Given the description of an element on the screen output the (x, y) to click on. 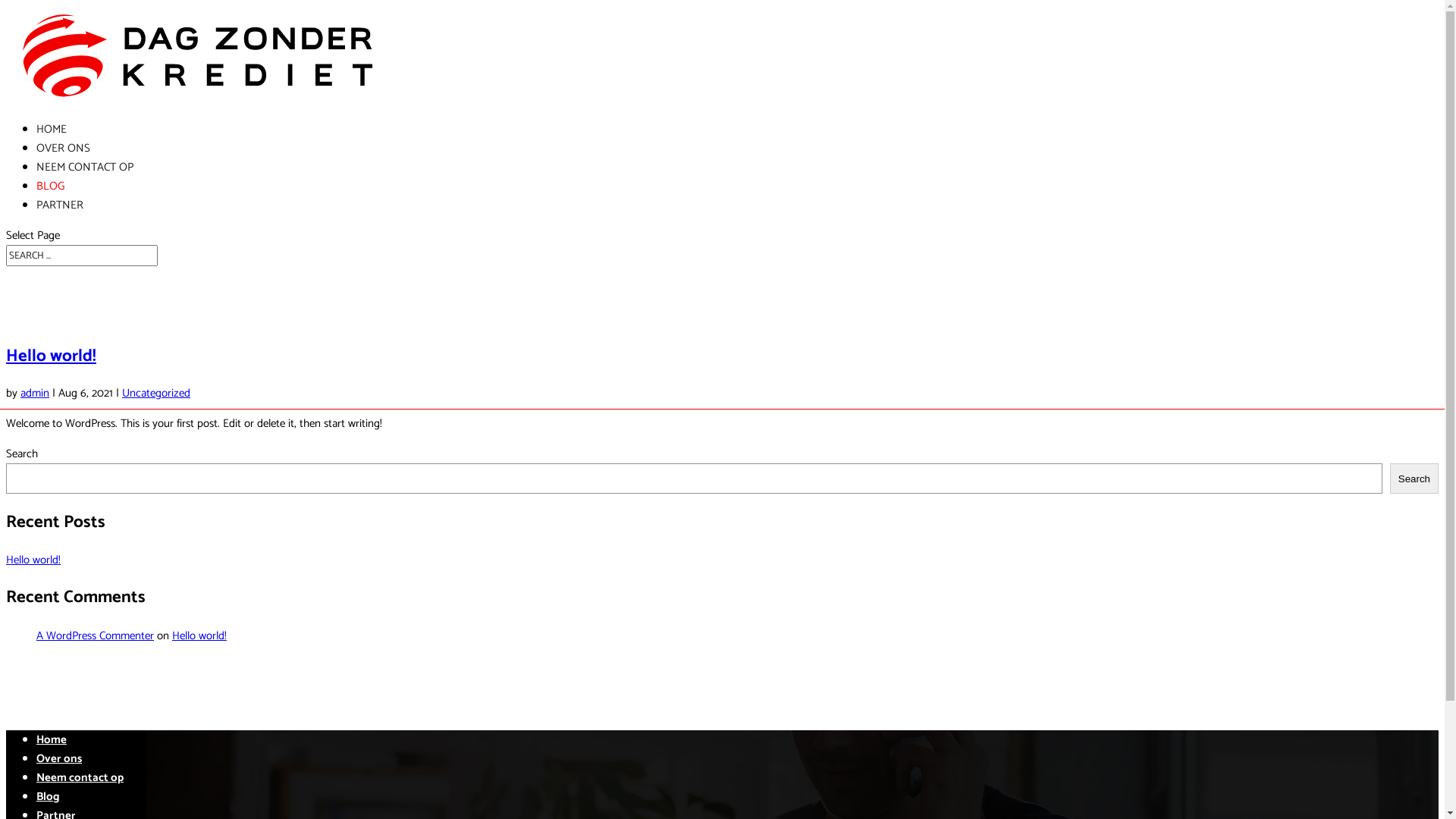
Home Element type: text (51, 739)
BLOG Element type: text (50, 185)
A WordPress Commenter Element type: text (94, 635)
Search for: Element type: hover (81, 255)
admin Element type: text (34, 392)
Hello world! Element type: text (33, 559)
Hello world! Element type: text (199, 635)
Uncategorized Element type: text (156, 392)
Blog Element type: text (47, 796)
Over ons Element type: text (58, 758)
Hello world! Element type: text (51, 356)
Neem contact op Element type: text (79, 777)
Search Element type: text (1414, 478)
NEEM CONTACT OP Element type: text (84, 166)
OVER ONS Element type: text (63, 147)
PARTNER Element type: text (59, 204)
HOME Element type: text (51, 128)
